Given the description of an element on the screen output the (x, y) to click on. 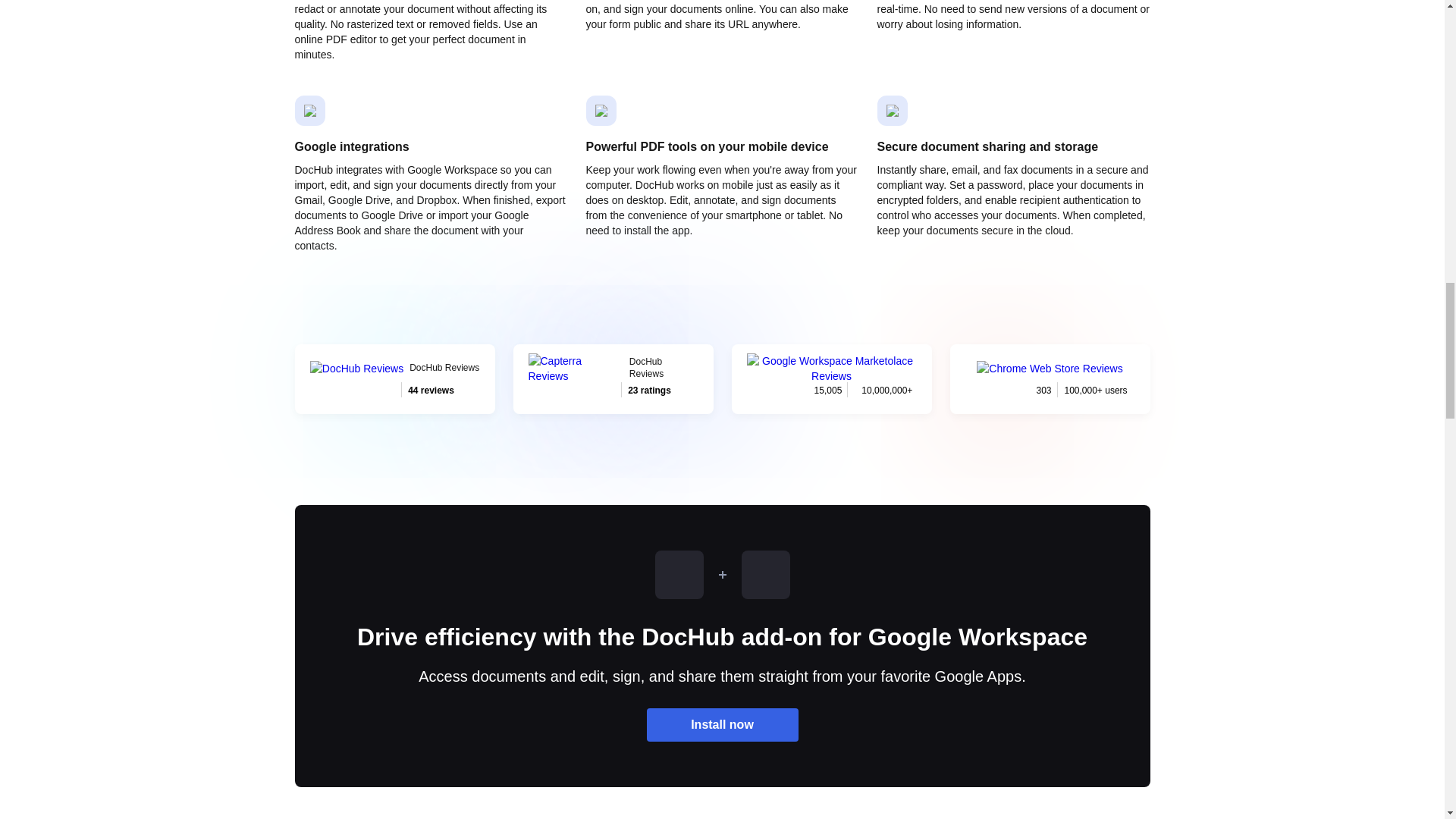
Install now (612, 378)
